Given the description of an element on the screen output the (x, y) to click on. 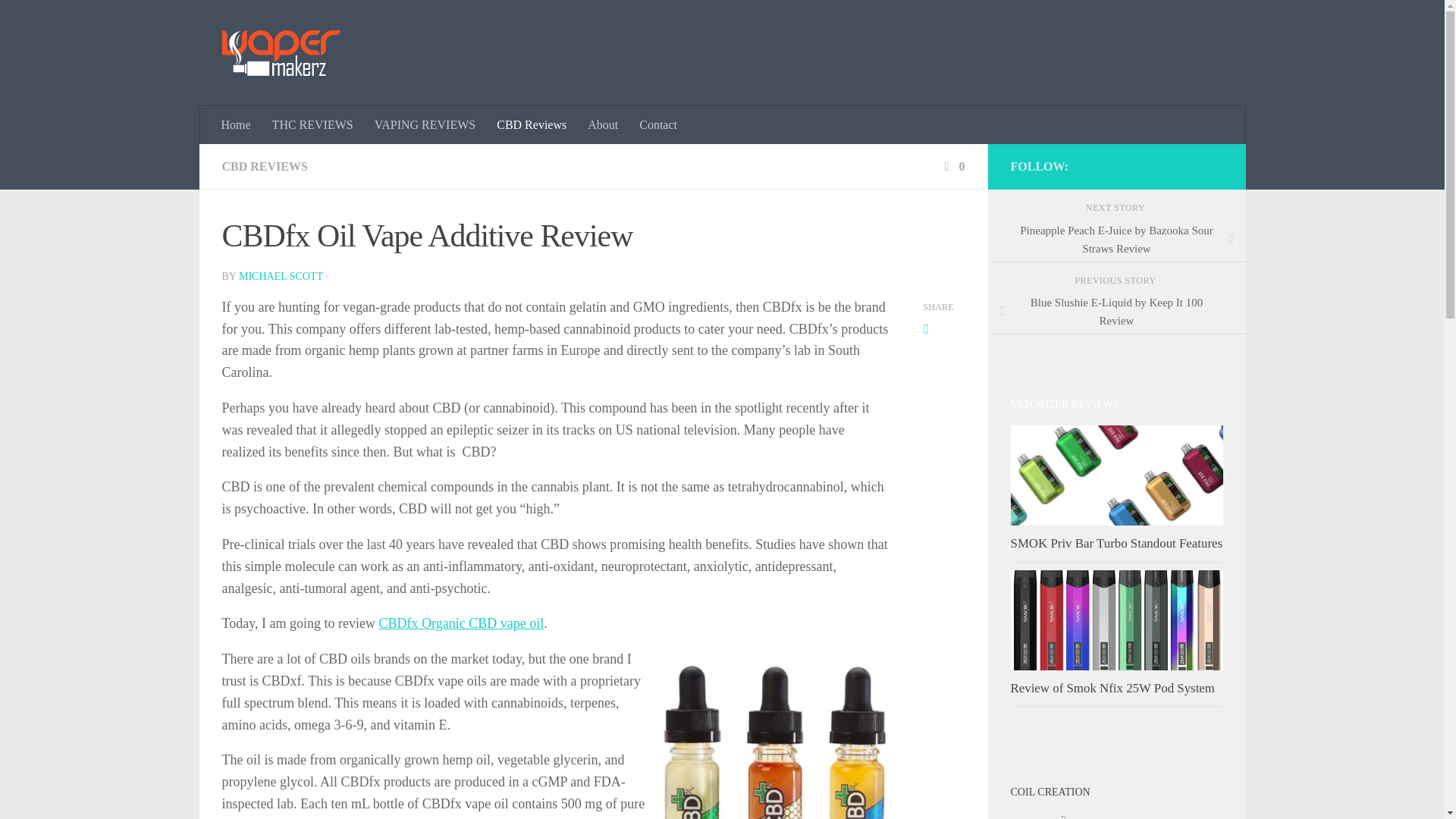
VAPING REVIEWS (425, 125)
CBDfx Organic CBD vape oil (461, 622)
Contact (657, 125)
Home (236, 125)
THC REVIEWS (313, 125)
0 (951, 165)
MICHAEL SCOTT (280, 276)
Posts by Michael Scott (280, 276)
CBD REVIEWS (264, 165)
About (602, 125)
Recent Posts (1063, 812)
Popular Posts (1169, 812)
Skip to content (59, 20)
CBD Reviews (531, 125)
